Given the description of an element on the screen output the (x, y) to click on. 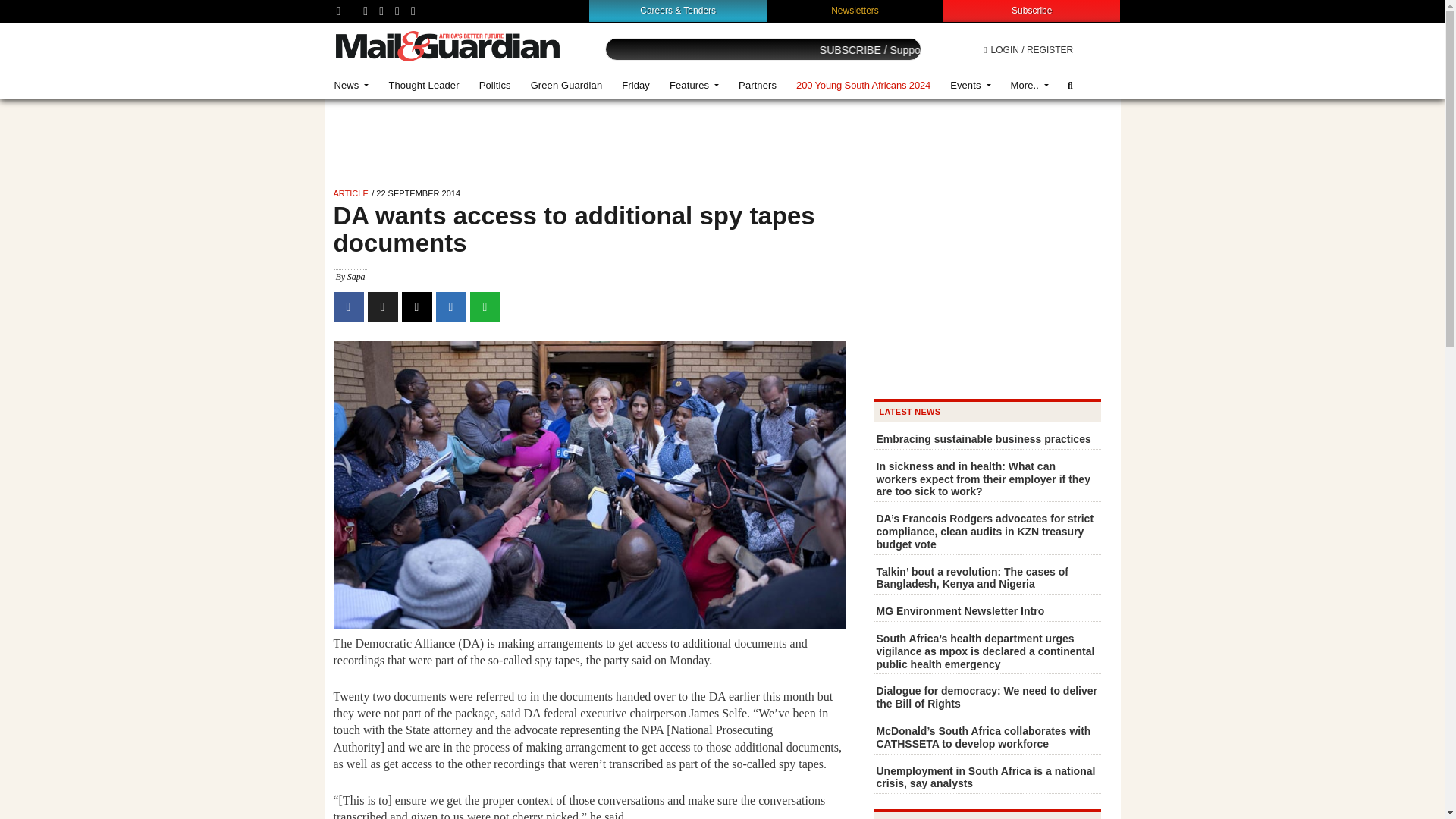
Politics (494, 85)
News (351, 85)
Green Guardian (566, 85)
Newsletters (855, 9)
Friday (635, 85)
Subscribe (1031, 9)
Features (694, 85)
Thought Leader (423, 85)
News (351, 85)
